Given the description of an element on the screen output the (x, y) to click on. 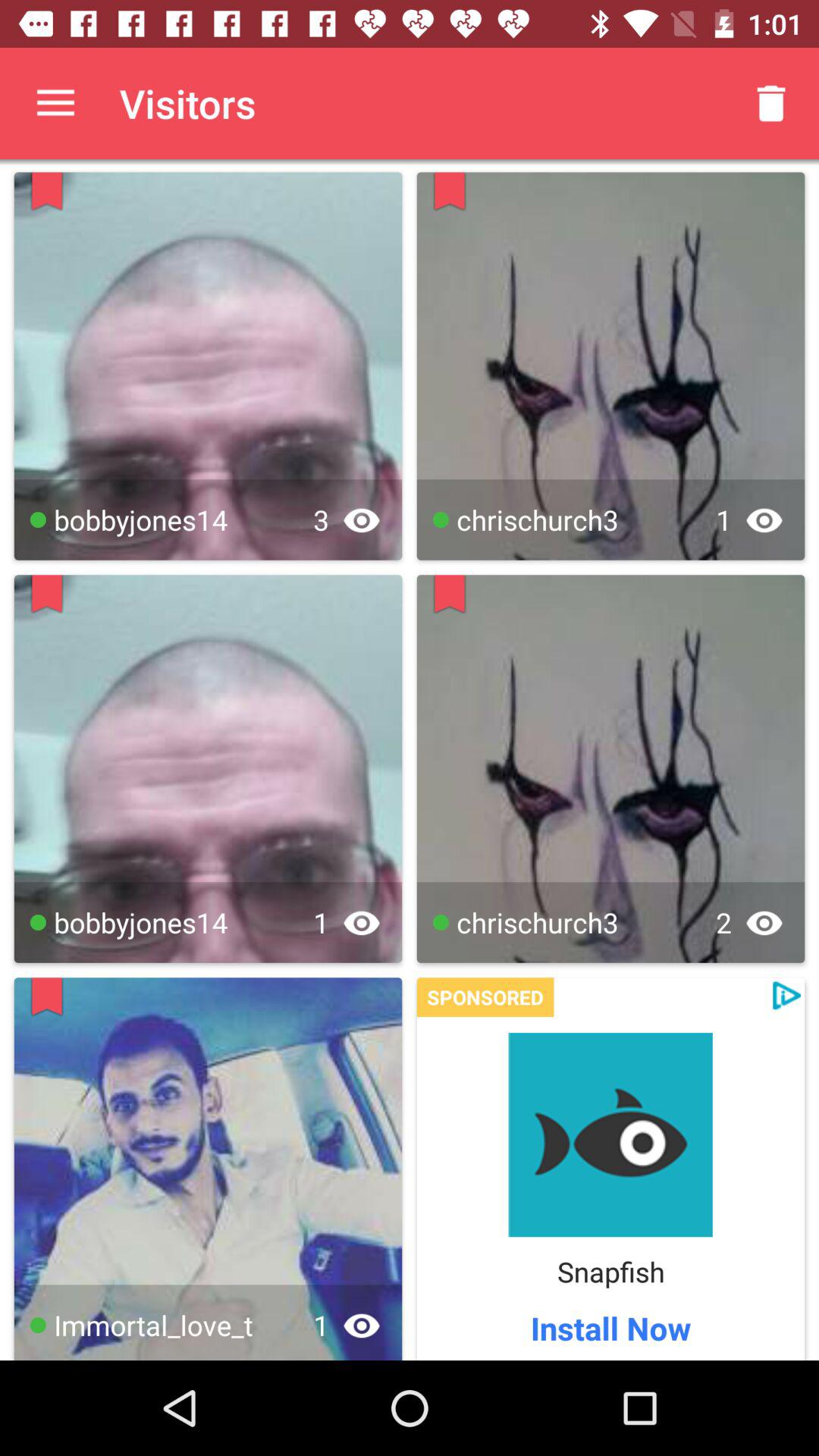
select the icon to the left of visitors icon (55, 103)
